Given the description of an element on the screen output the (x, y) to click on. 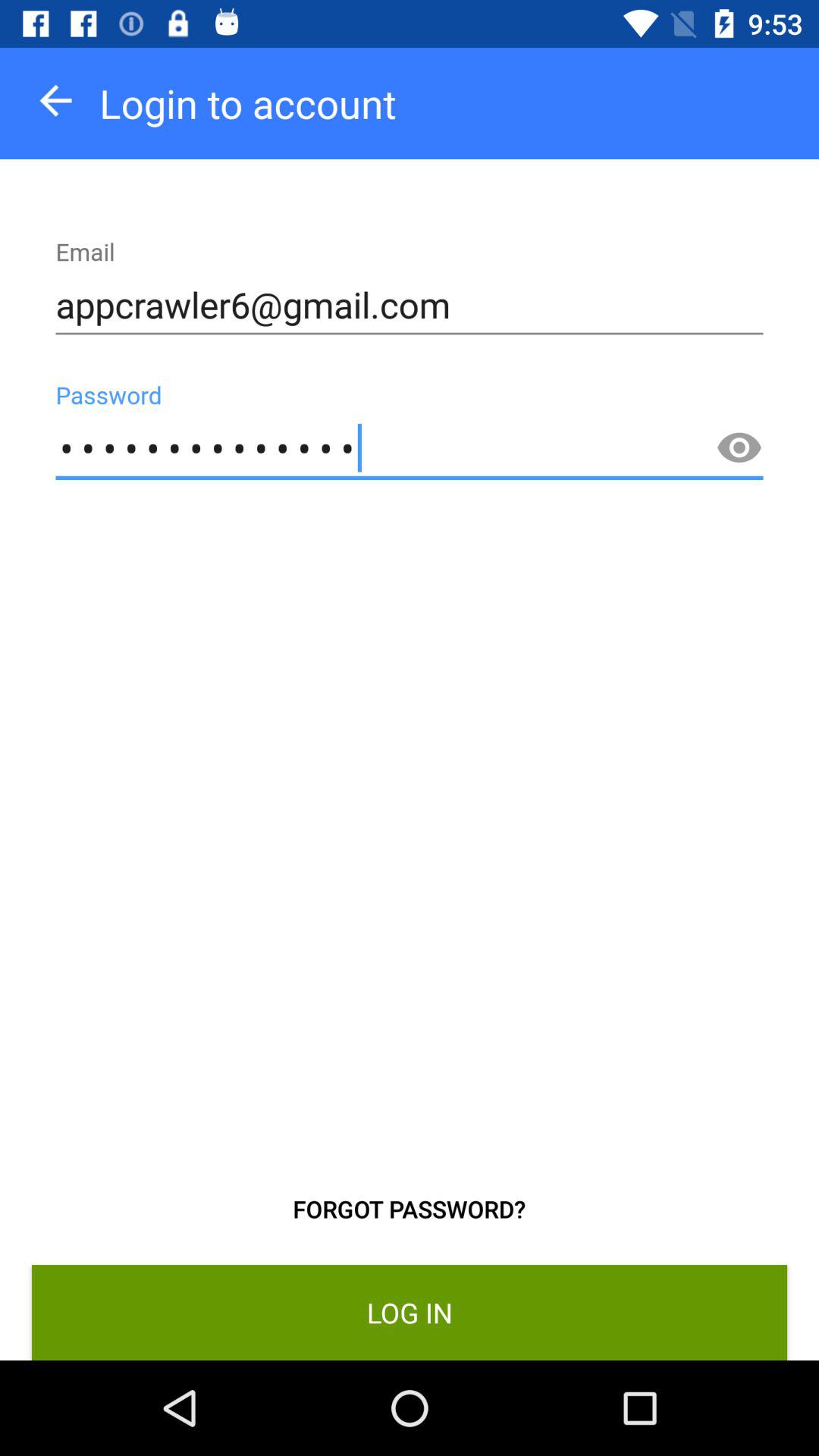
turn off icon above the appcrawler3116 (409, 305)
